Given the description of an element on the screen output the (x, y) to click on. 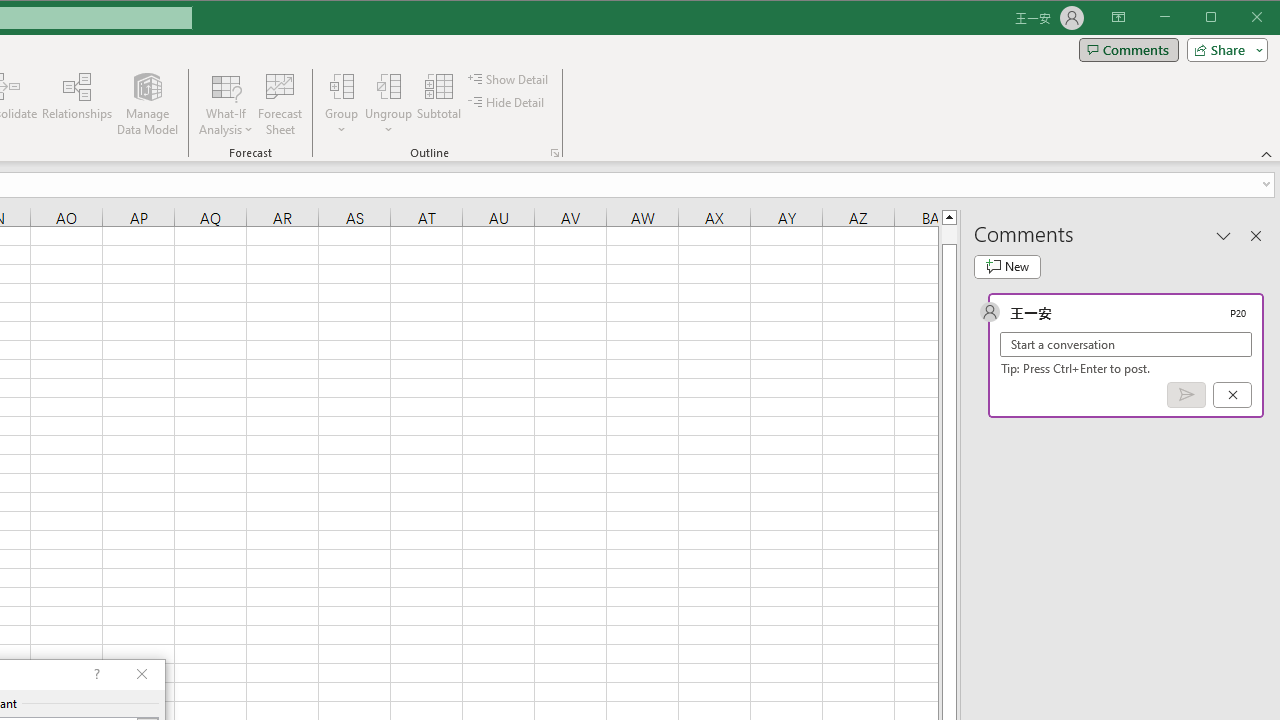
Post comment (Ctrl + Enter) (1186, 395)
Start a conversation (1126, 344)
